Given the description of an element on the screen output the (x, y) to click on. 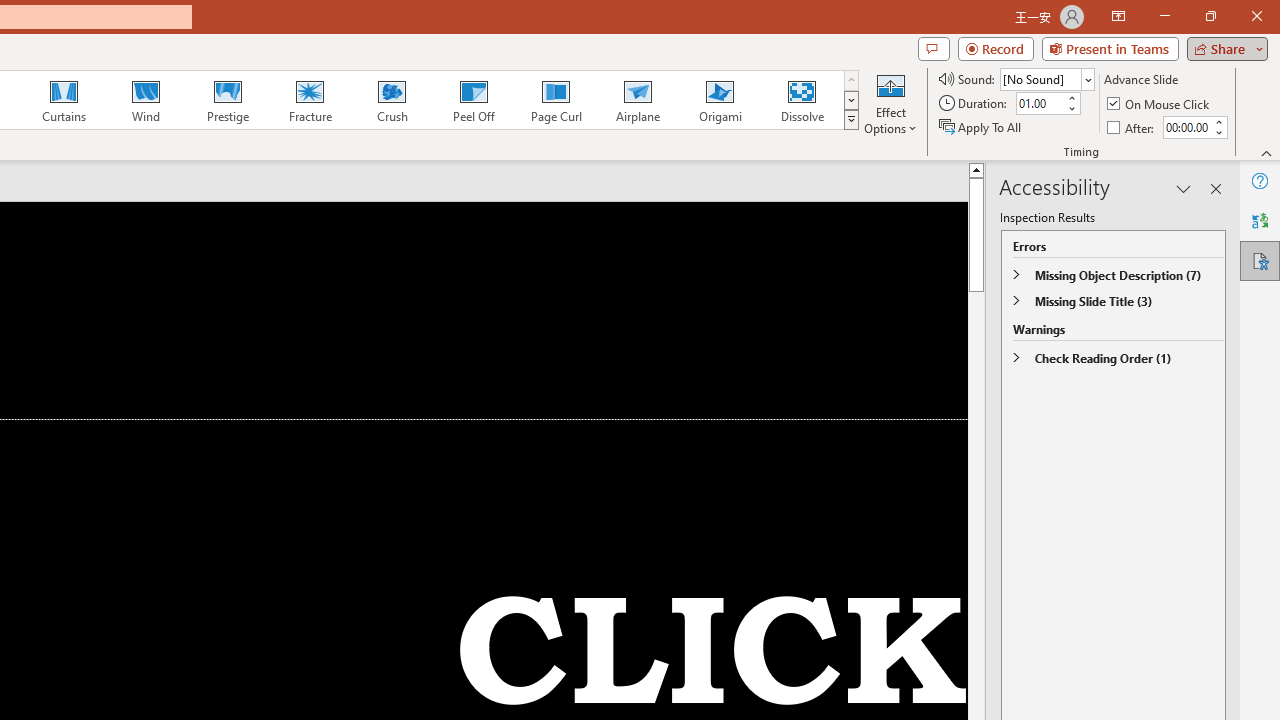
Sound (1046, 78)
Prestige (227, 100)
Airplane (637, 100)
Fracture (309, 100)
Accessibility (1260, 260)
Row Down (850, 100)
Crush (391, 100)
Task Pane Options (1183, 188)
Duration (1039, 103)
After (1131, 126)
Less (1218, 132)
Translator (1260, 220)
